Given the description of an element on the screen output the (x, y) to click on. 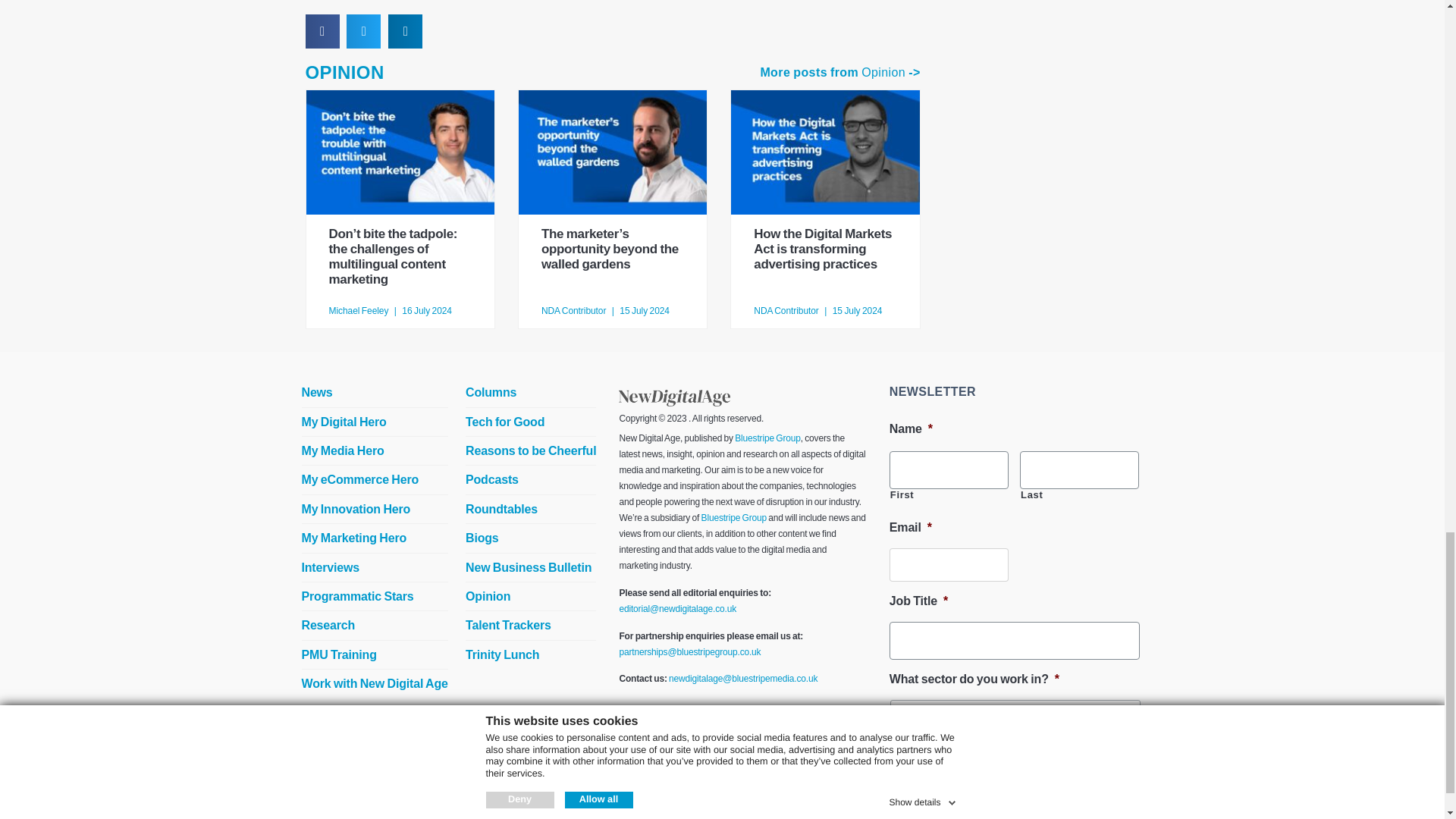
Sign up (927, 768)
